Given the description of an element on the screen output the (x, y) to click on. 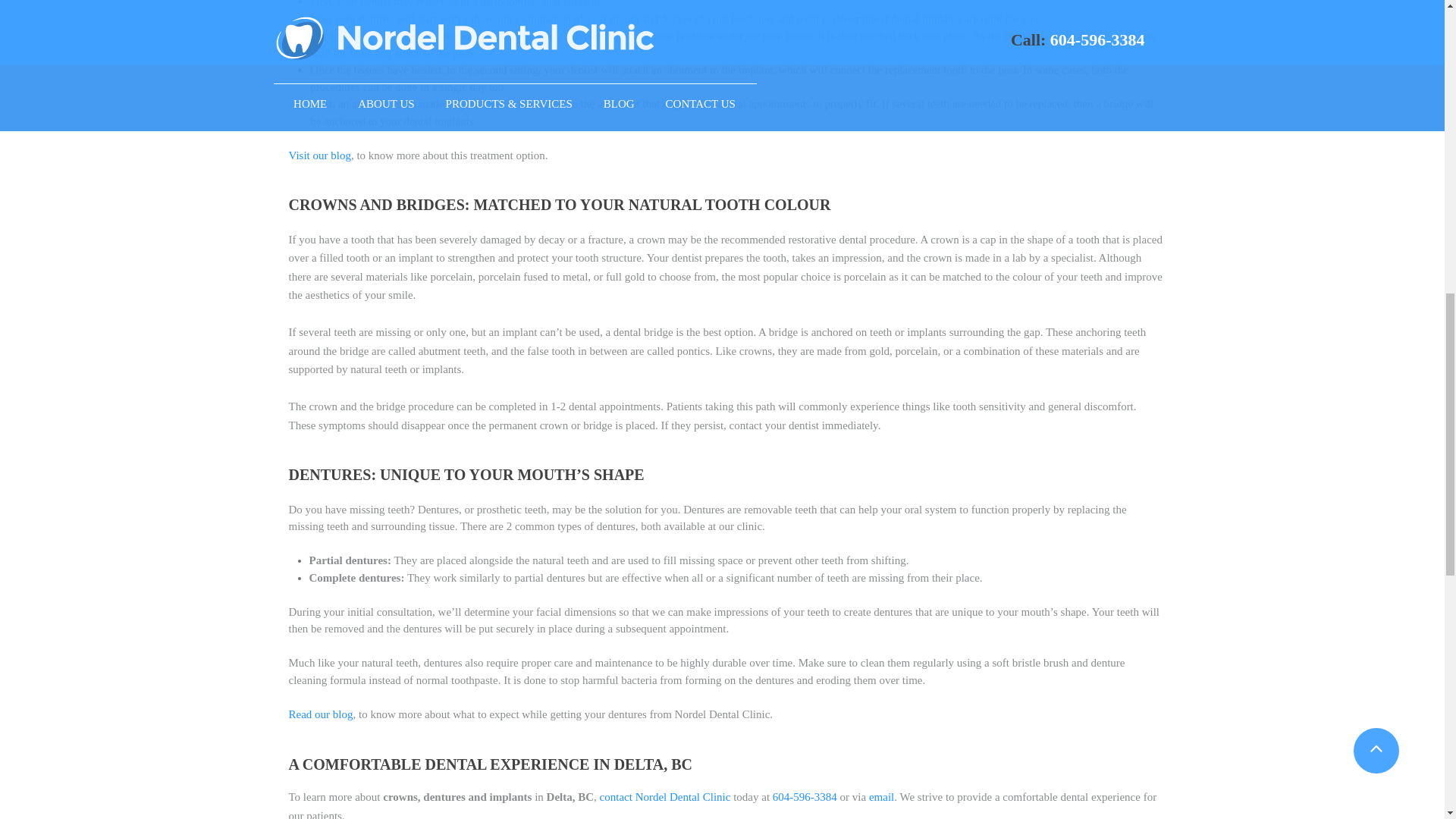
604-596-3384 (803, 797)
Read our blog (320, 714)
contact Nordel Dental Clinic (663, 797)
email (879, 797)
Visit our blog (319, 155)
